Given the description of an element on the screen output the (x, y) to click on. 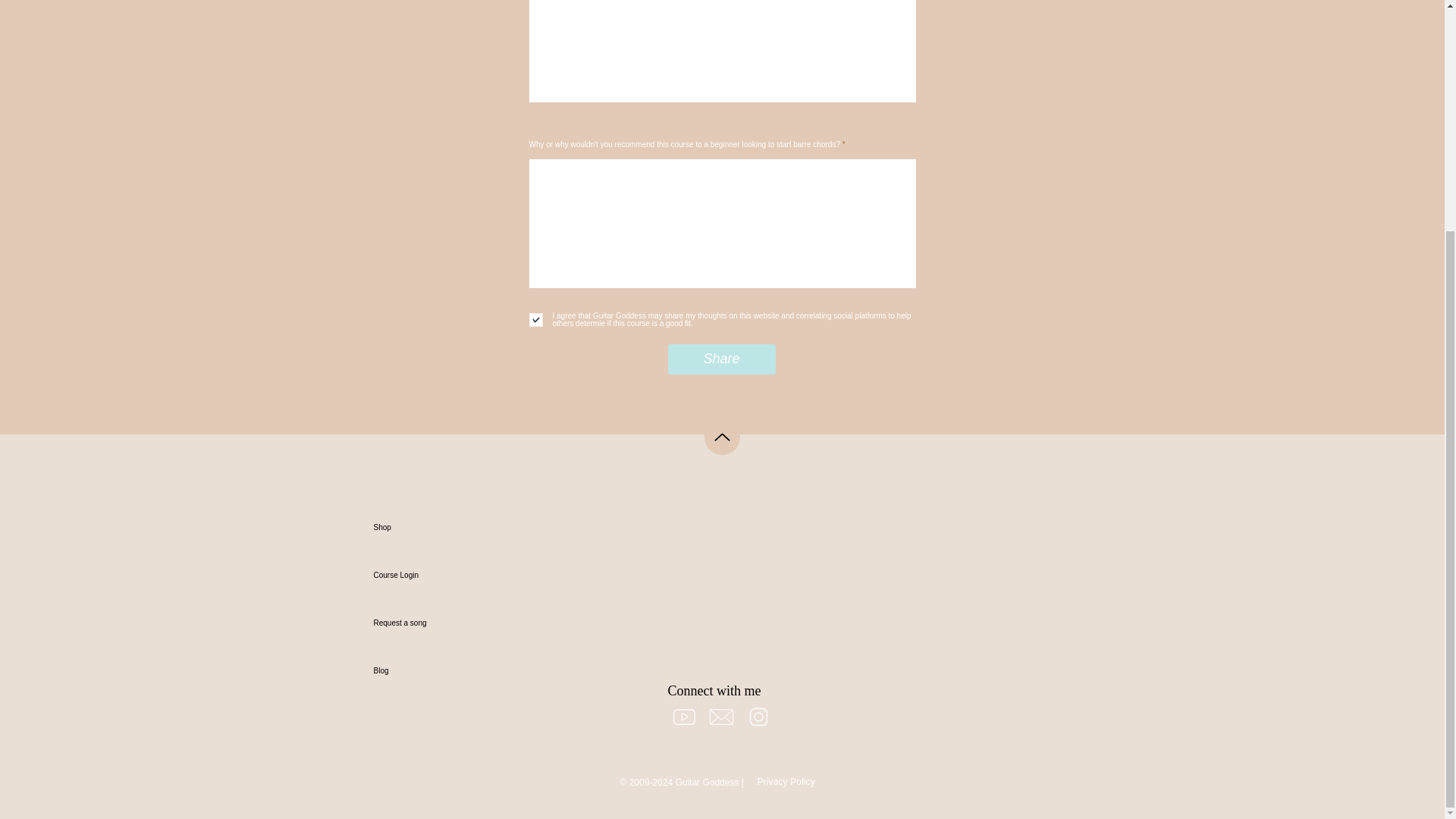
Privacy Policy (785, 781)
Request a song (426, 622)
Course Login (426, 574)
Blog (426, 670)
Shop (426, 527)
Share (720, 358)
